Given the description of an element on the screen output the (x, y) to click on. 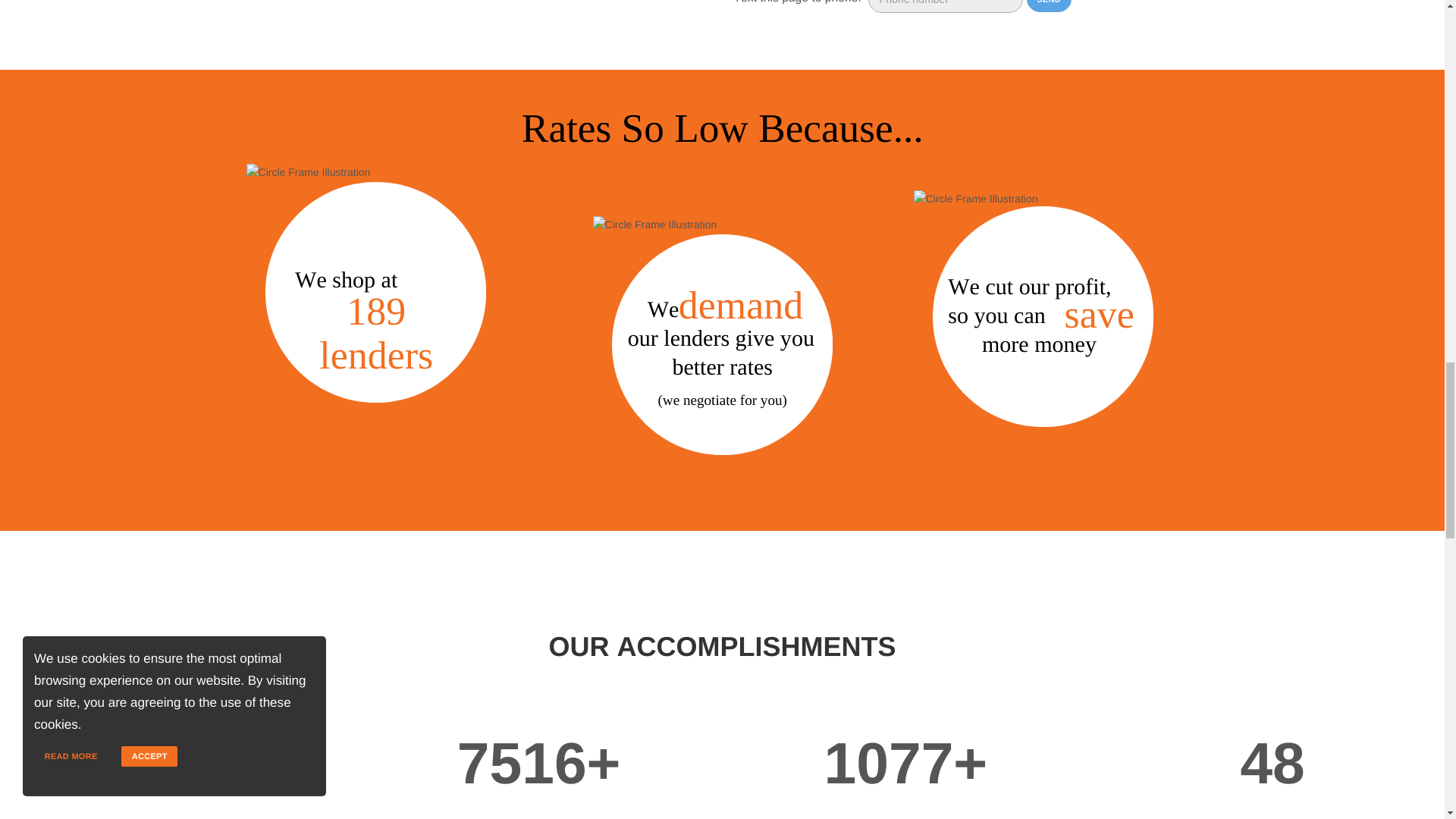
SEND (1048, 6)
